Given the description of an element on the screen output the (x, y) to click on. 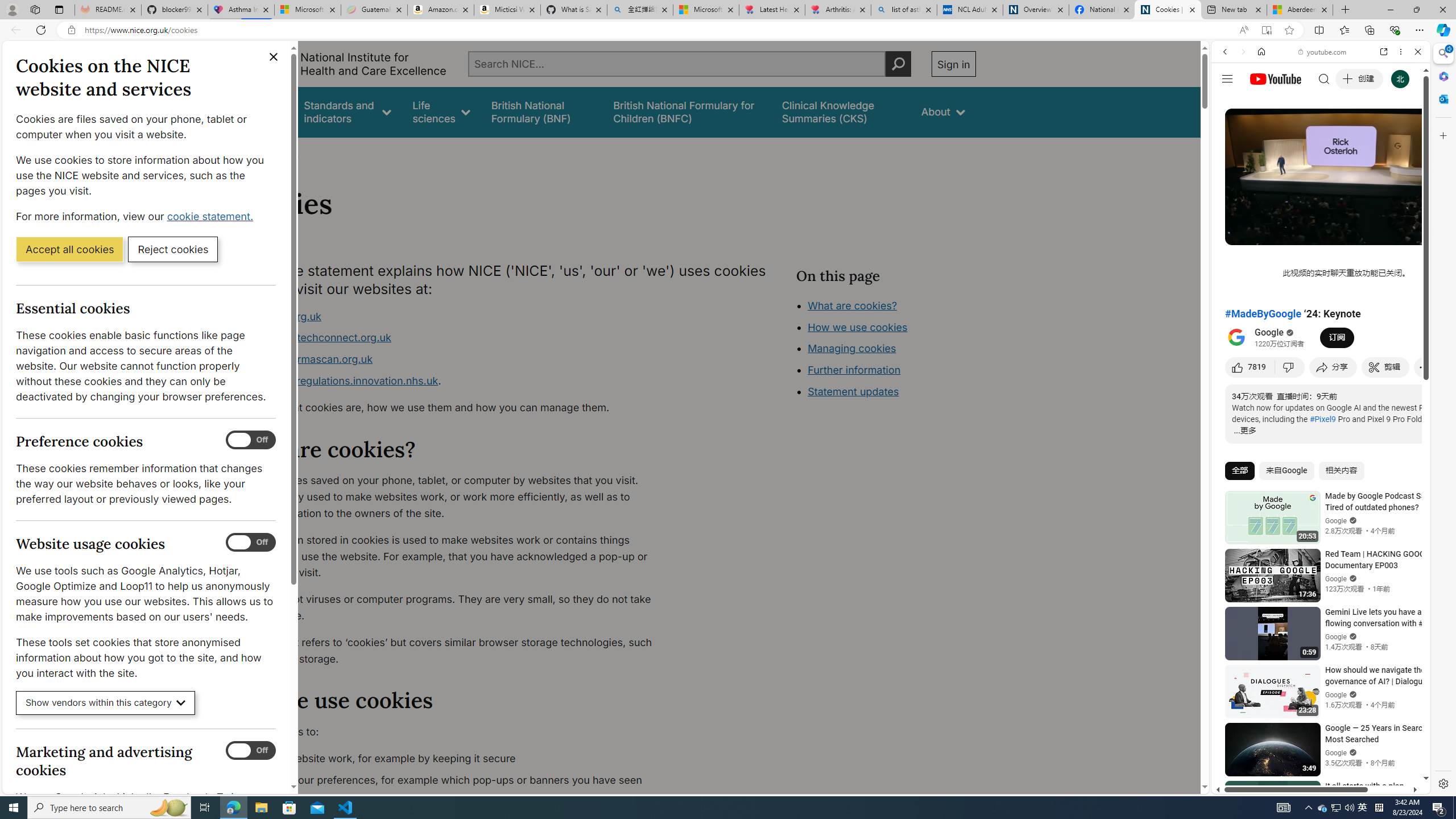
Global web icon (1232, 655)
Trailer #2 [HD] (1320, 336)
About (942, 111)
WEB   (1230, 130)
